Given the description of an element on the screen output the (x, y) to click on. 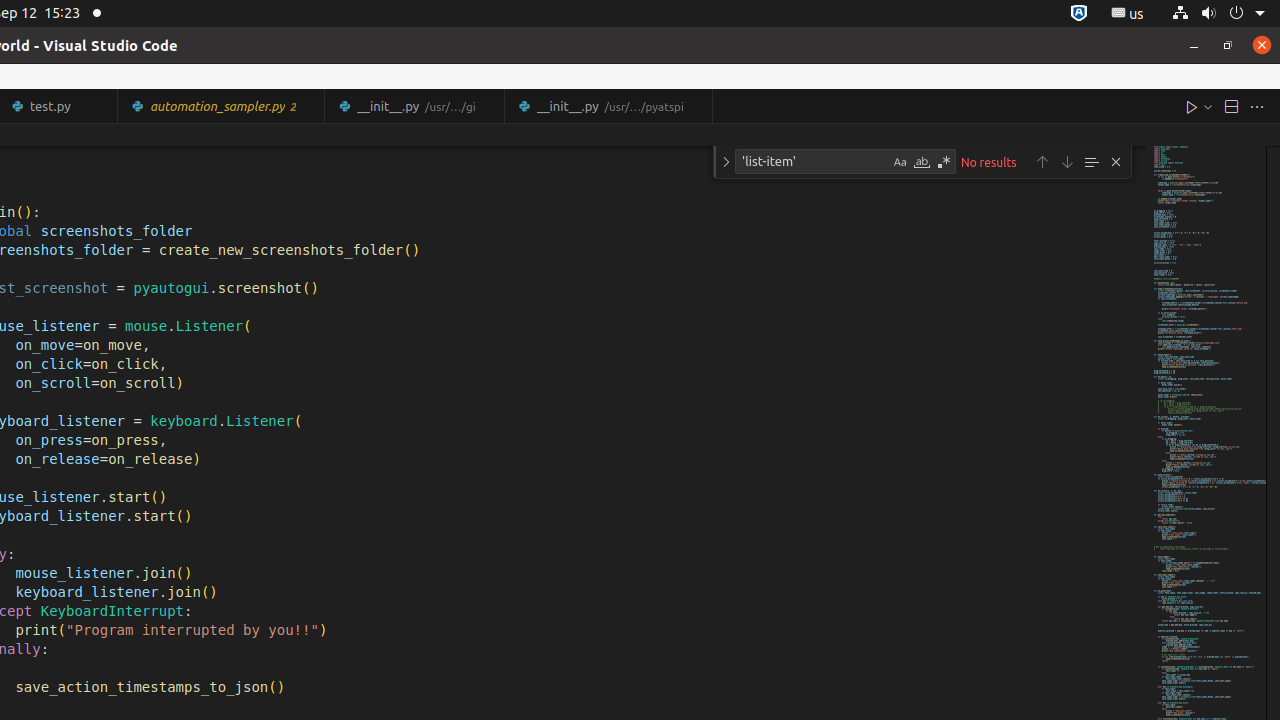
Run or Debug... Element type: push-button (1208, 106)
Next Match (Enter) Element type: push-button (1067, 161)
Use Regular Expression (Alt+R) Element type: check-box (944, 162)
__init__.py Element type: page-tab (608, 106)
